Given the description of an element on the screen output the (x, y) to click on. 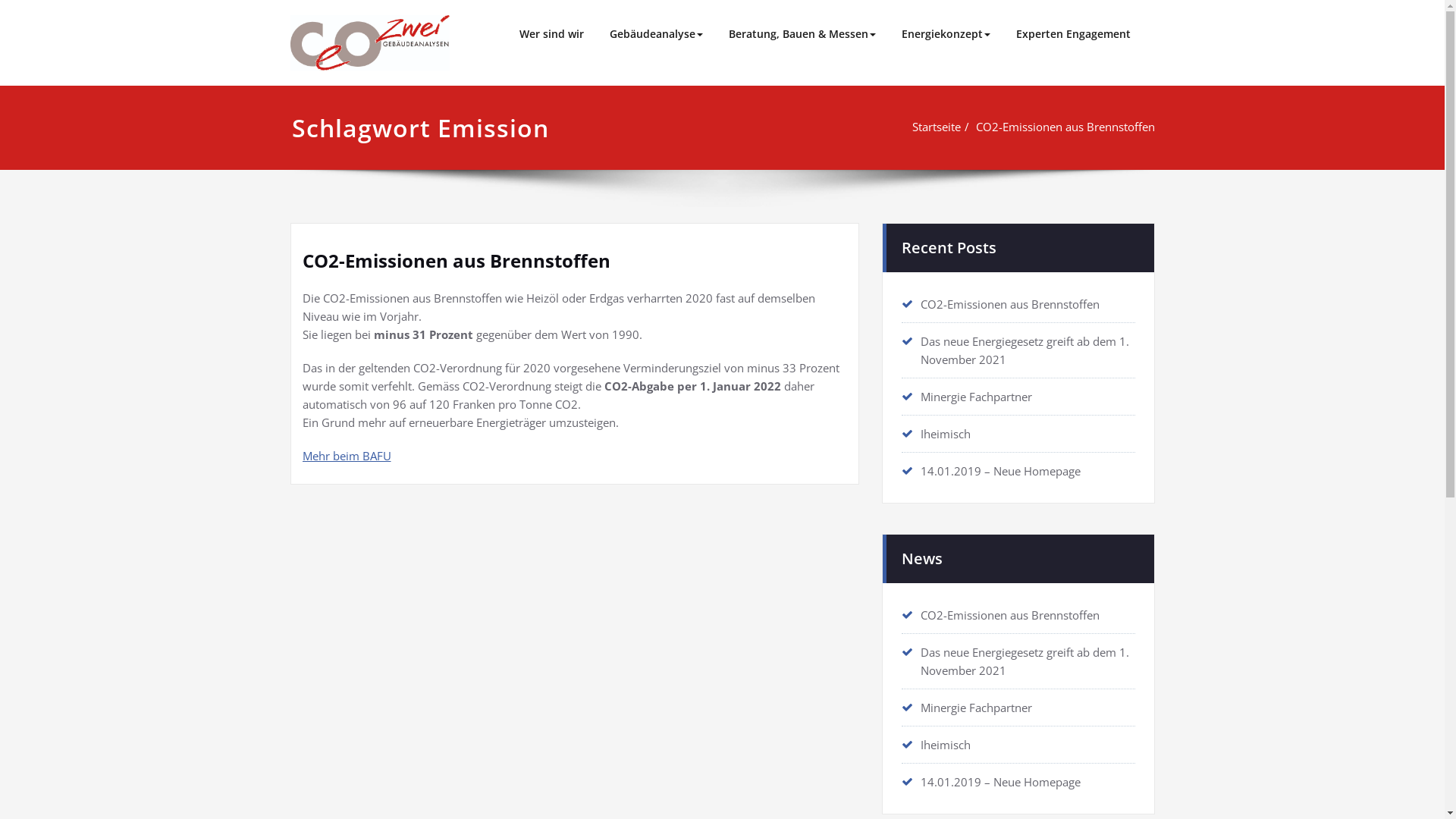
Iheimisch Element type: text (945, 744)
Das neue Energiegesetz greift ab dem 1. November 2021 Element type: text (1024, 660)
Minergie Fachpartner Element type: text (976, 707)
Das neue Energiegesetz greift ab dem 1. November 2021 Element type: text (1024, 350)
Wer sind wir Element type: text (551, 34)
CO2-Emissionen aus Brennstoffen Element type: text (1009, 614)
Experten Engagement Element type: text (1072, 34)
Minergie Fachpartner Element type: text (976, 396)
Iheimisch Element type: text (945, 433)
Startseite Element type: text (935, 126)
CO2-Emissionen aus Brennstoffen Element type: text (455, 260)
Skip to content Element type: text (0, 0)
Energiekonzept Element type: text (945, 34)
CO2-Emissionen aus Brennstoffen Element type: text (1009, 303)
CO2-Emissionen aus Brennstoffen Element type: text (1064, 126)
Beratung, Bauen & Messen Element type: text (801, 34)
Mehr beim BAFU Element type: text (345, 455)
